Given the description of an element on the screen output the (x, y) to click on. 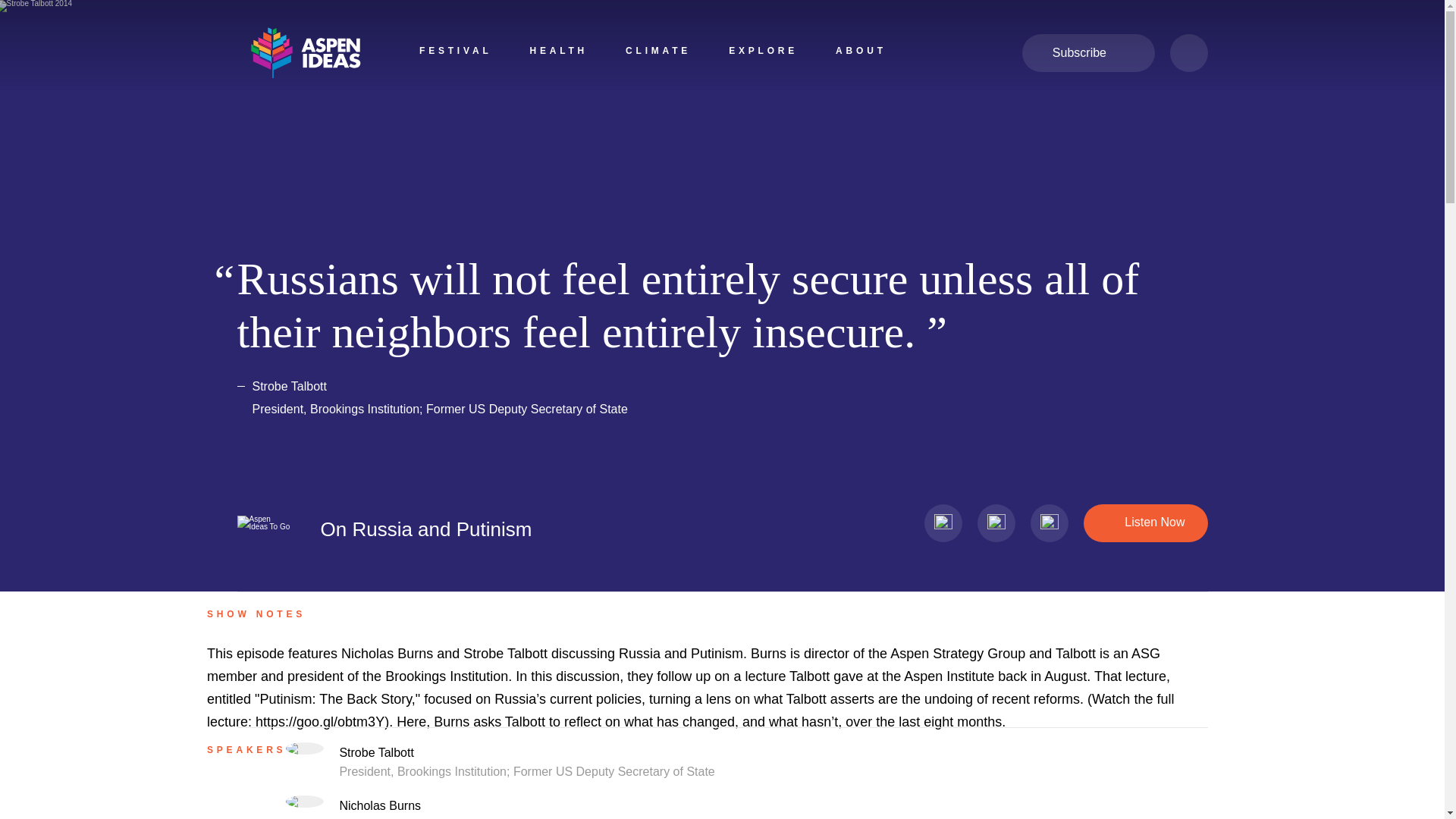
CLIMATE (658, 52)
EXPLORE (763, 52)
FESTIVAL (455, 52)
ABOUT (860, 52)
HEALTH (558, 52)
Listen Now (1145, 523)
Subscribe (1088, 53)
